Given the description of an element on the screen output the (x, y) to click on. 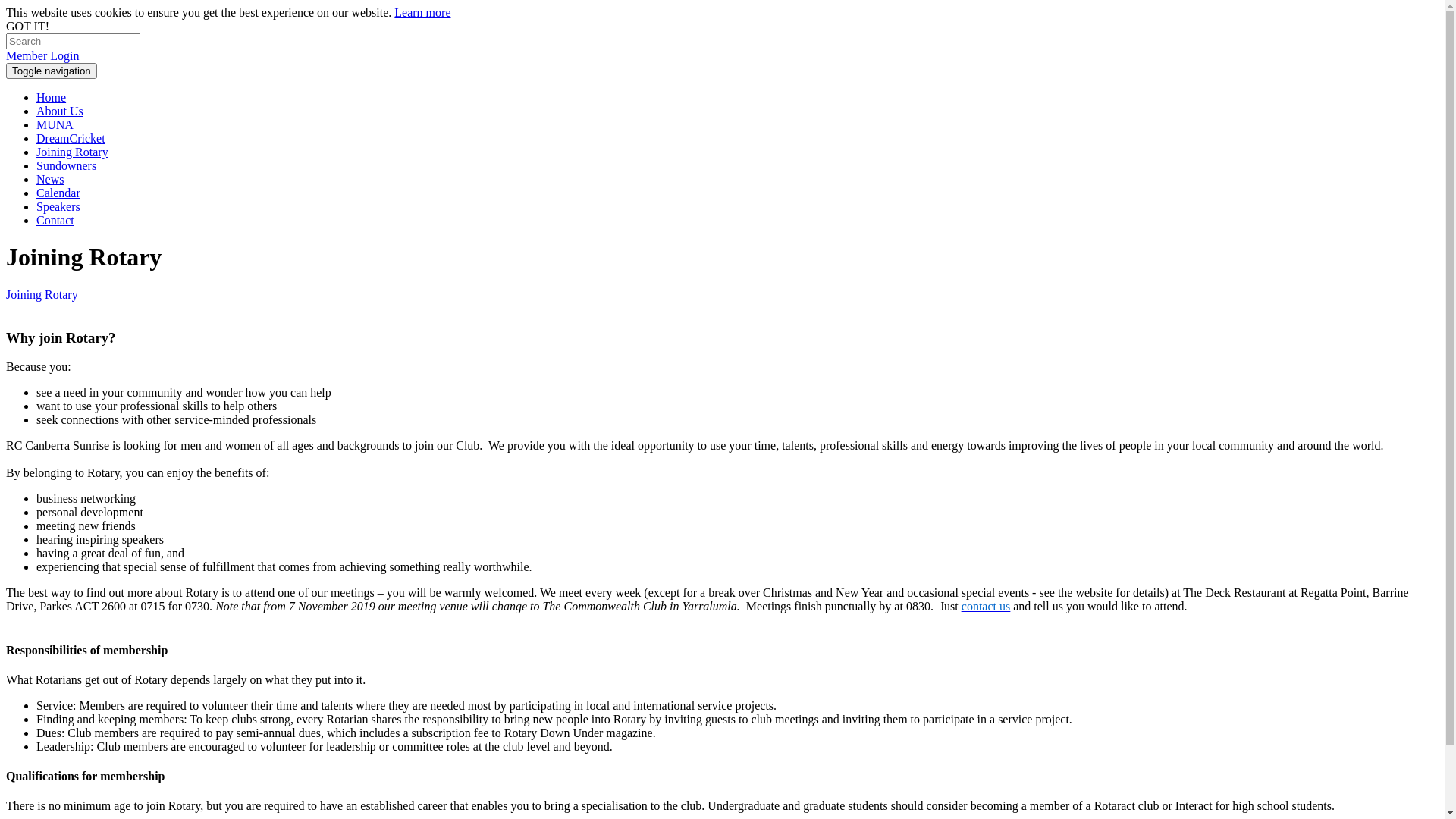
contact us Element type: text (985, 605)
Joining Rotary Element type: text (42, 294)
Learn more Element type: text (422, 12)
Contact Element type: text (55, 219)
GOT IT! Element type: text (27, 25)
Joining Rotary Element type: text (72, 151)
News Element type: text (49, 178)
DreamCricket Element type: text (70, 137)
Sundowners Element type: text (66, 165)
Toggle navigation Element type: text (51, 70)
About Us Element type: text (59, 110)
Calendar Element type: text (58, 192)
Member Login Element type: text (42, 55)
MUNA Element type: text (54, 124)
Speakers Element type: text (58, 206)
Home Element type: text (50, 97)
